Given the description of an element on the screen output the (x, y) to click on. 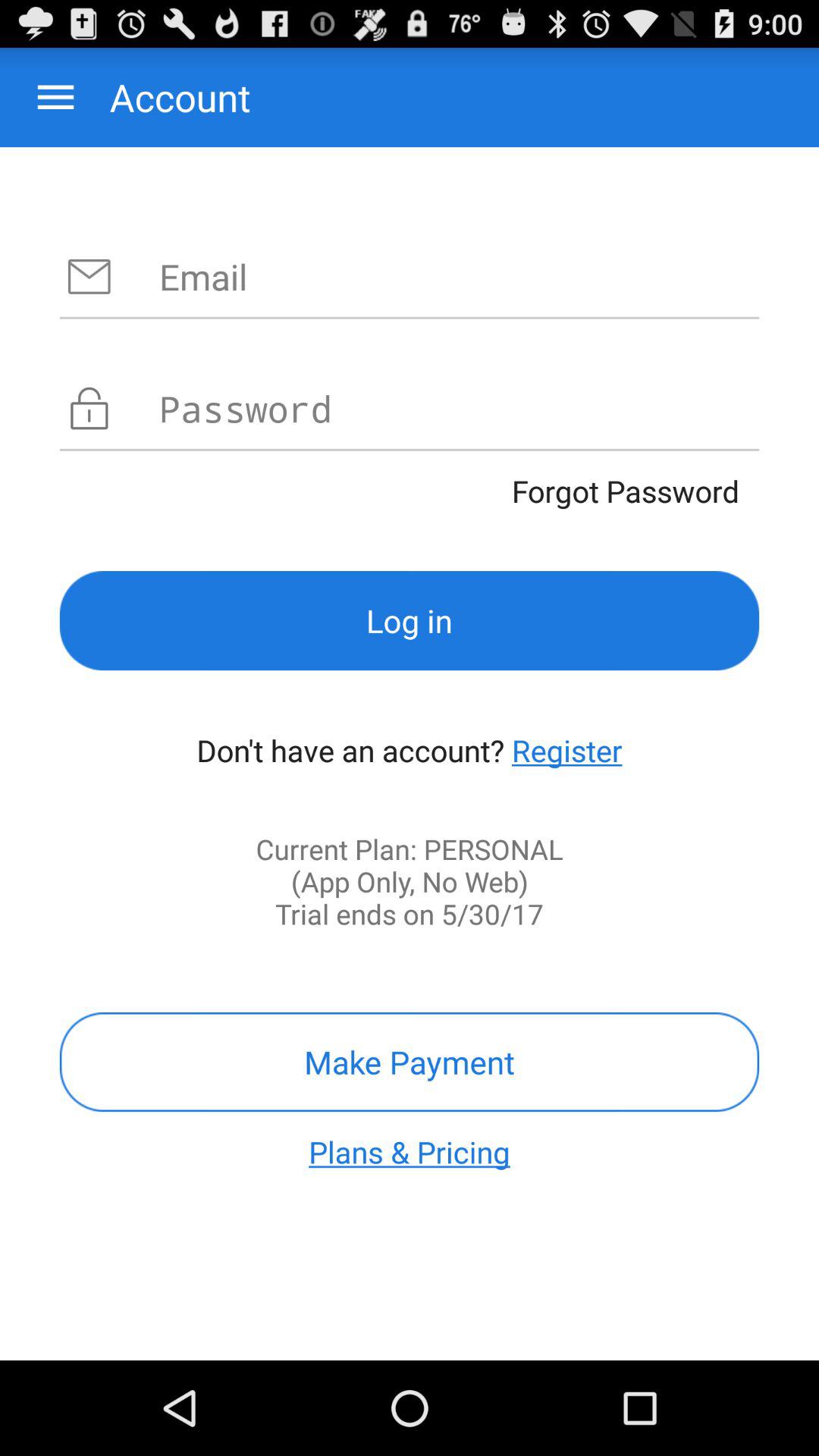
choose log in icon (409, 620)
